Given the description of an element on the screen output the (x, y) to click on. 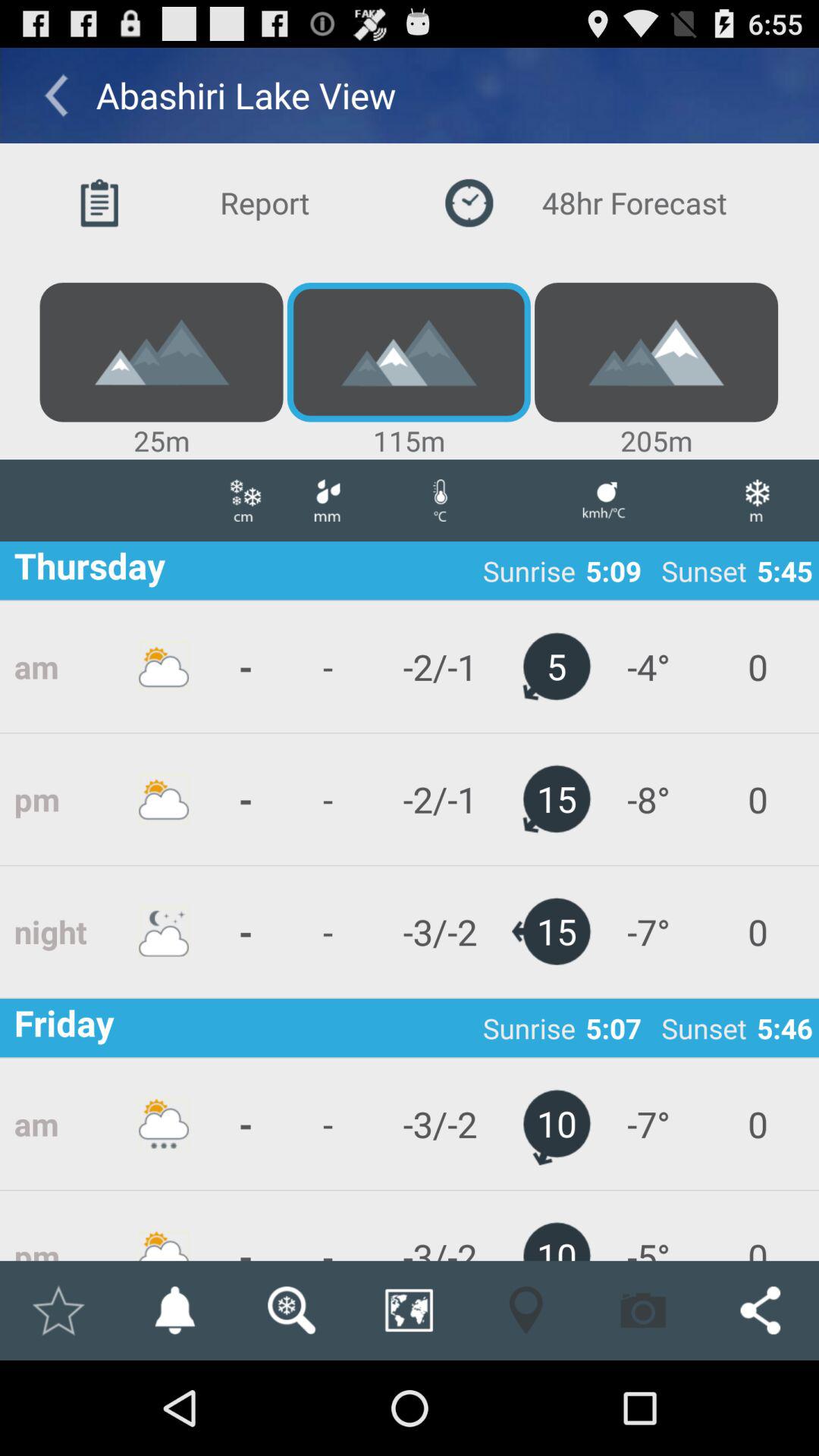
search option (291, 1310)
